Given the description of an element on the screen output the (x, y) to click on. 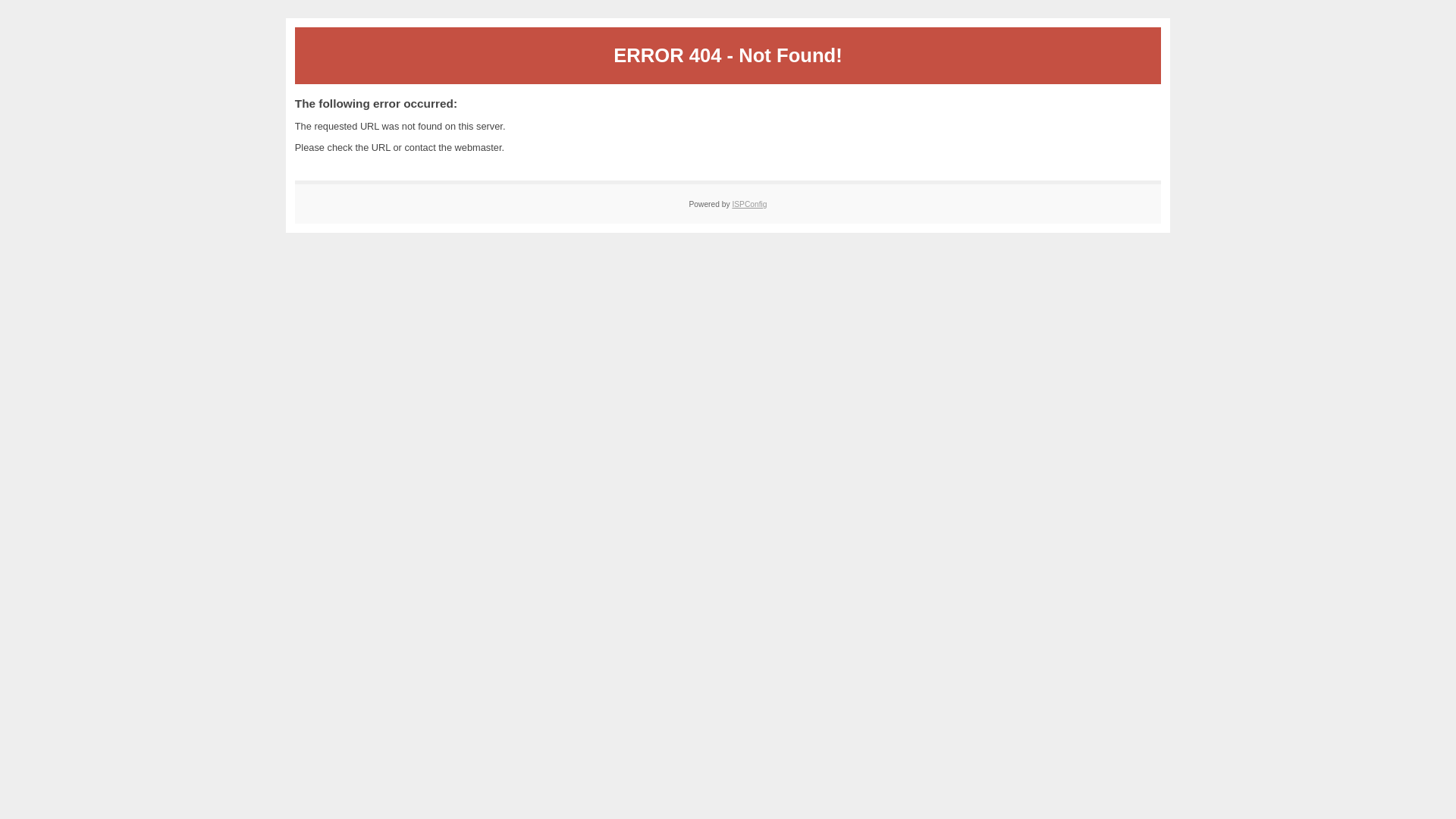
ISPConfig (749, 203)
